Given the description of an element on the screen output the (x, y) to click on. 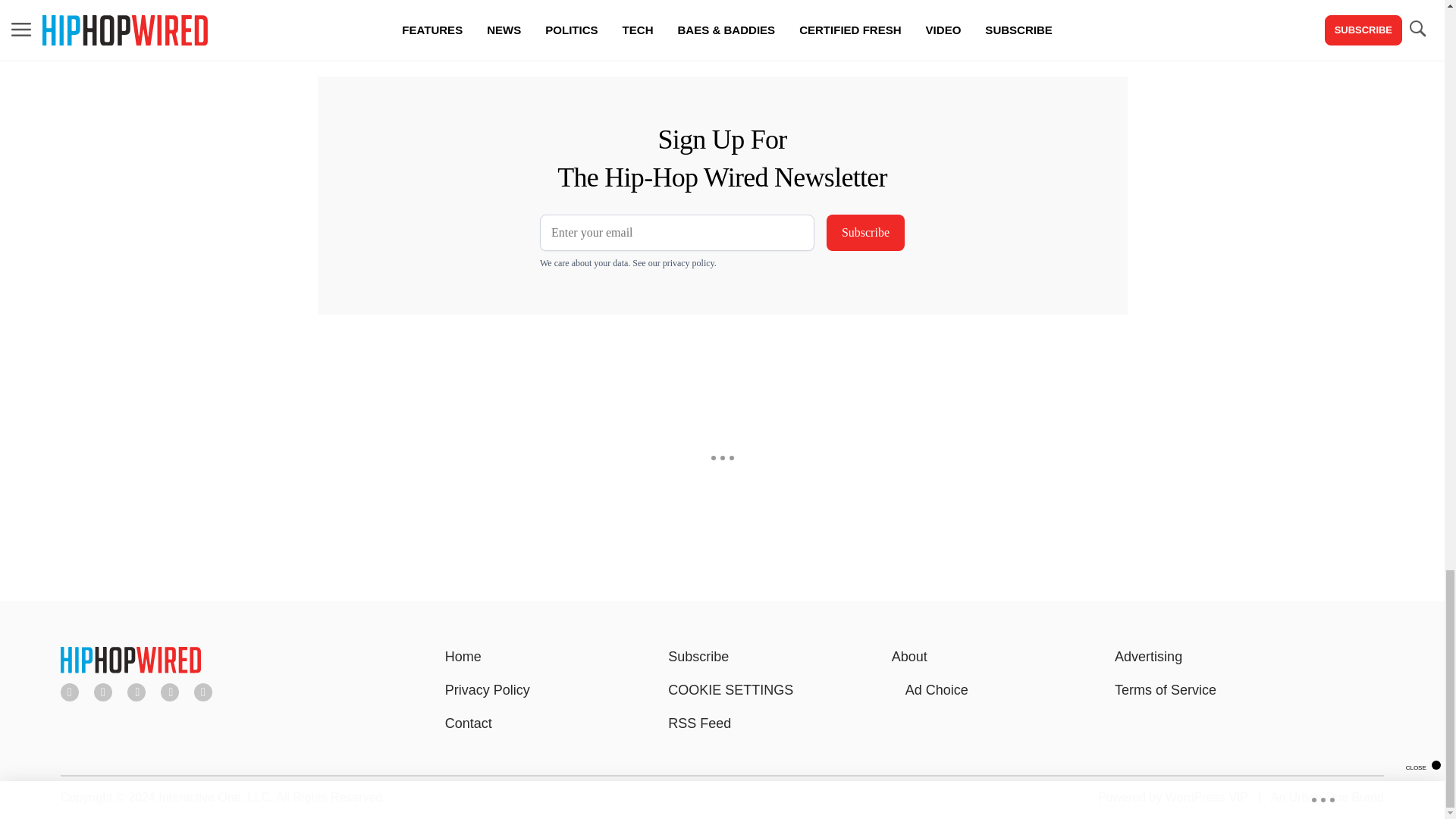
privacy policy (688, 262)
Subscribe (865, 232)
